Given the description of an element on the screen output the (x, y) to click on. 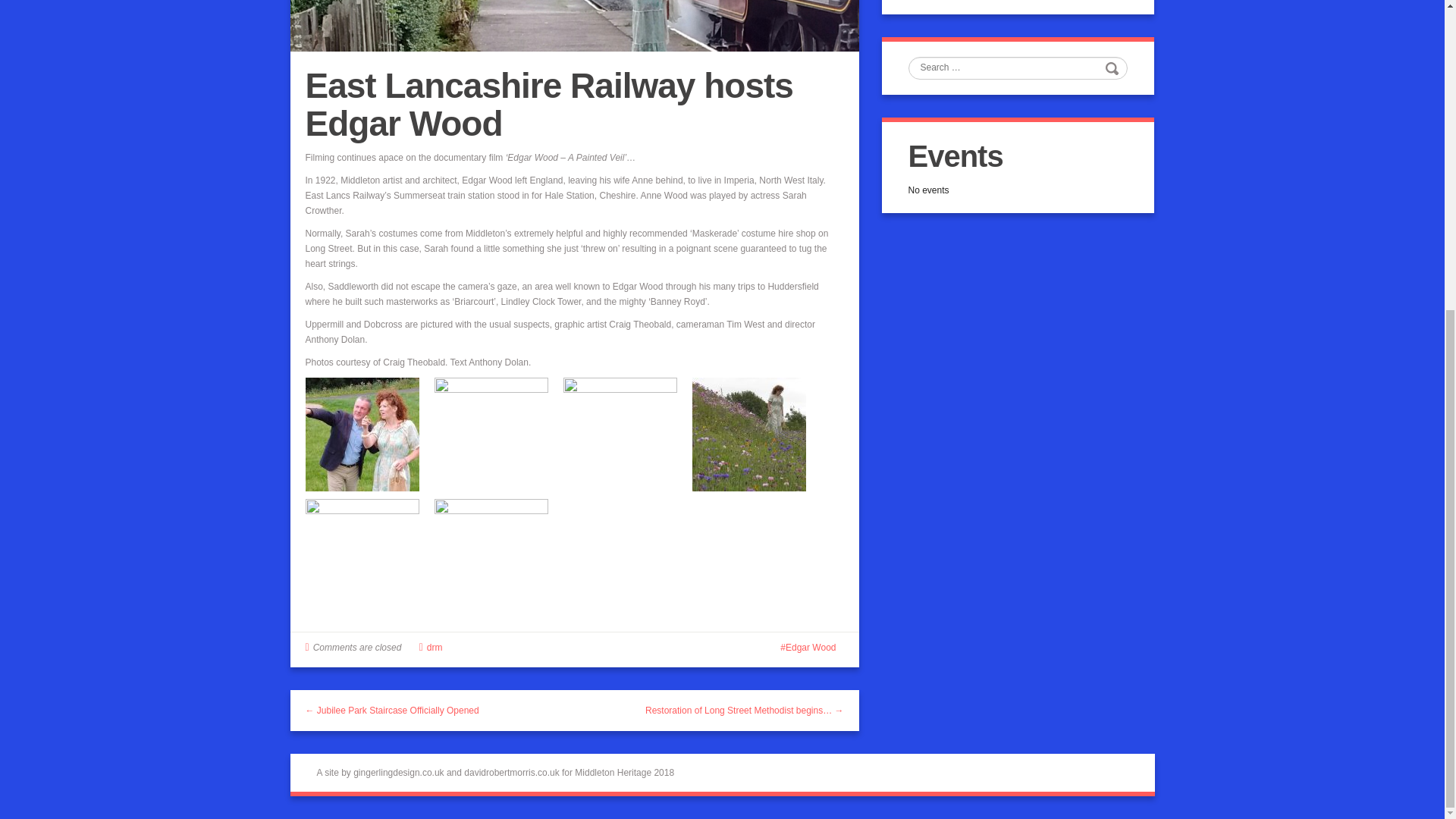
Search (1113, 67)
drm (434, 647)
Search (1113, 67)
Posts by drm (434, 647)
Edgar Wood (807, 647)
